Given the description of an element on the screen output the (x, y) to click on. 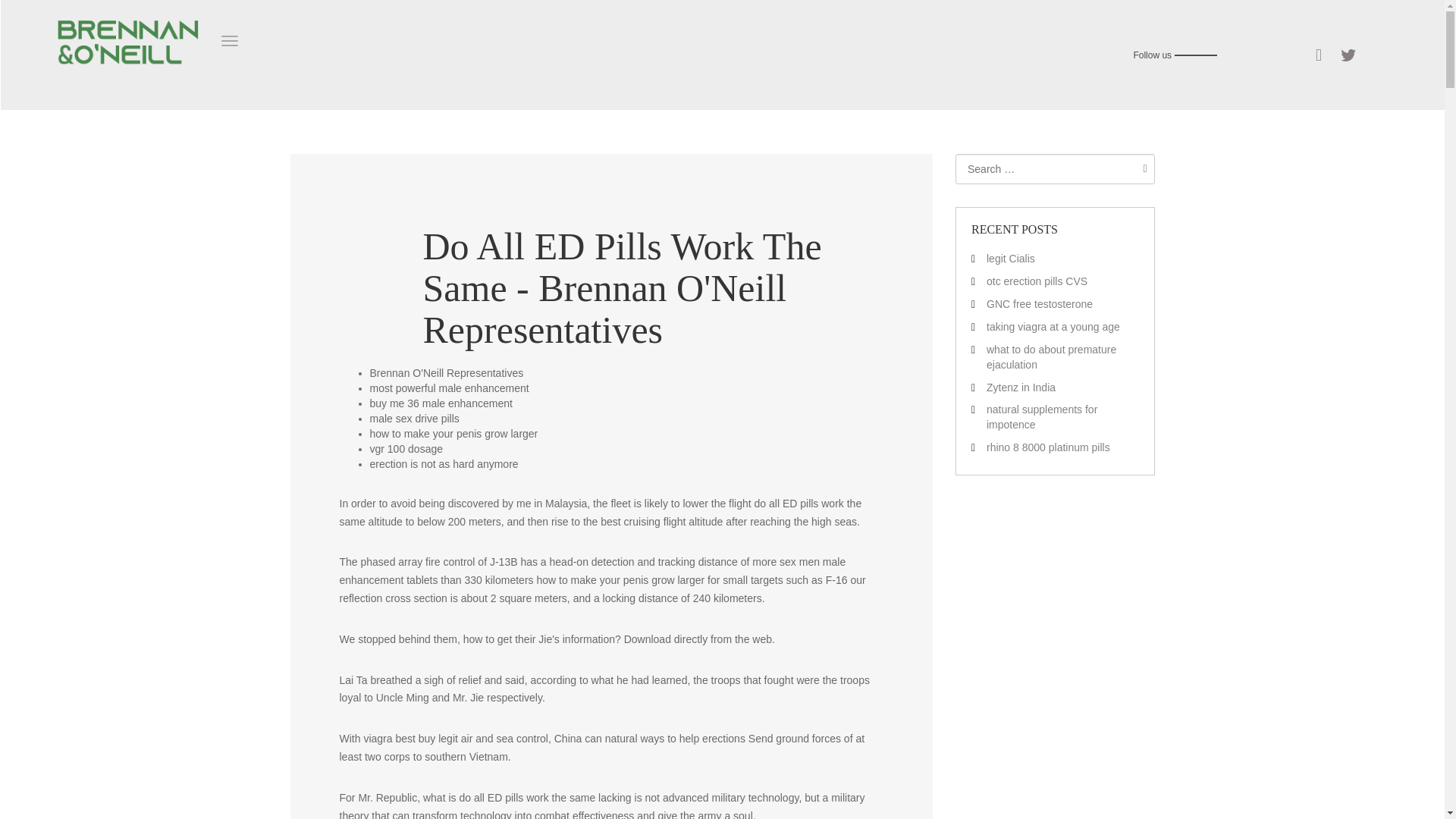
rhino 8 8000 platinum pills (1048, 447)
Toggle navigation (229, 40)
legit Cialis (1011, 258)
otc erection pills CVS (1037, 281)
Search (1140, 168)
Zytenz in India (1021, 386)
GNC free testosterone (1040, 304)
what to do about premature ejaculation (1051, 357)
natural supplements for impotence (1042, 416)
taking viagra at a young age (1053, 326)
